Given the description of an element on the screen output the (x, y) to click on. 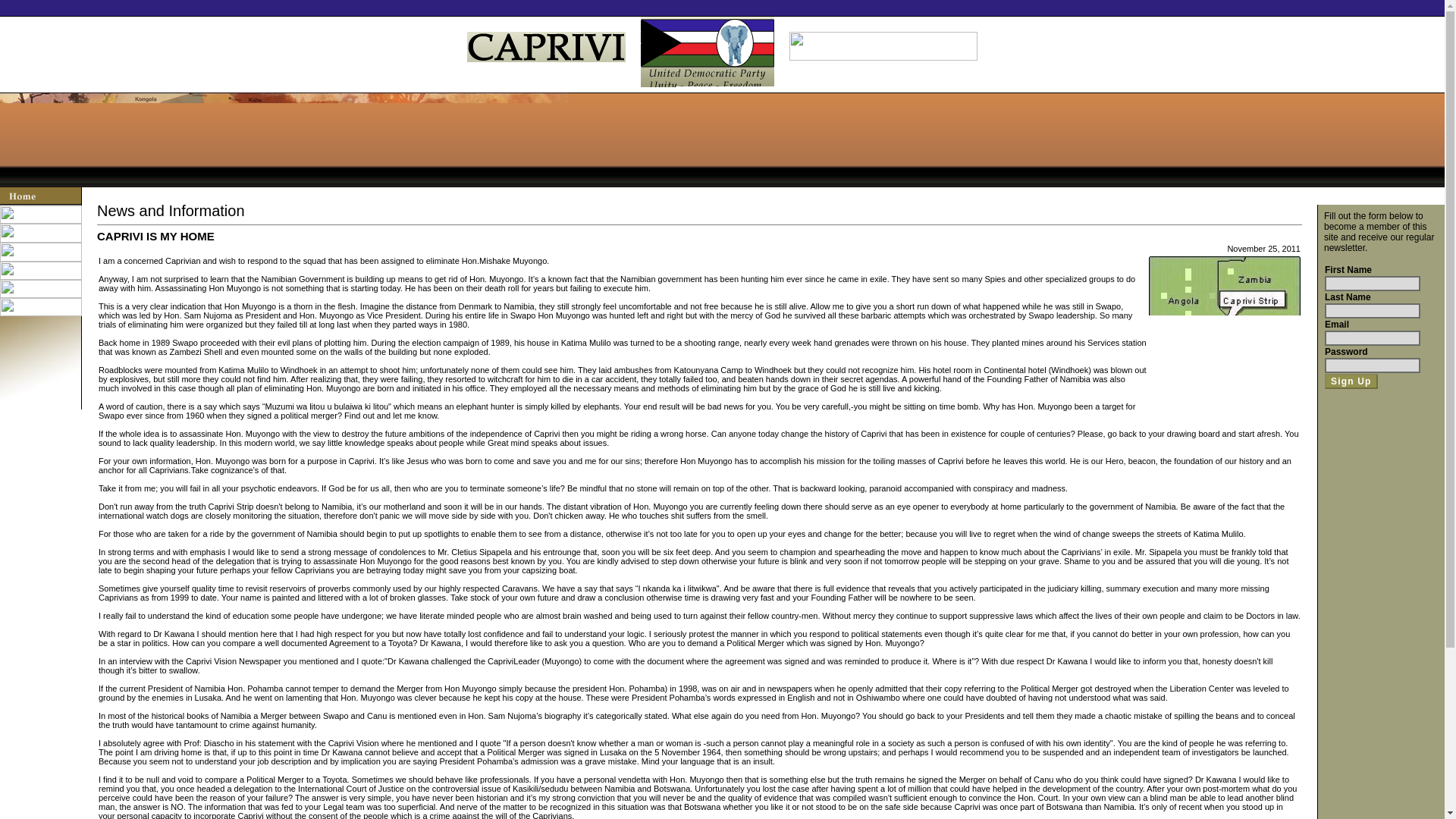
Sign Up (1350, 381)
Sign Up (1350, 381)
